Given the description of an element on the screen output the (x, y) to click on. 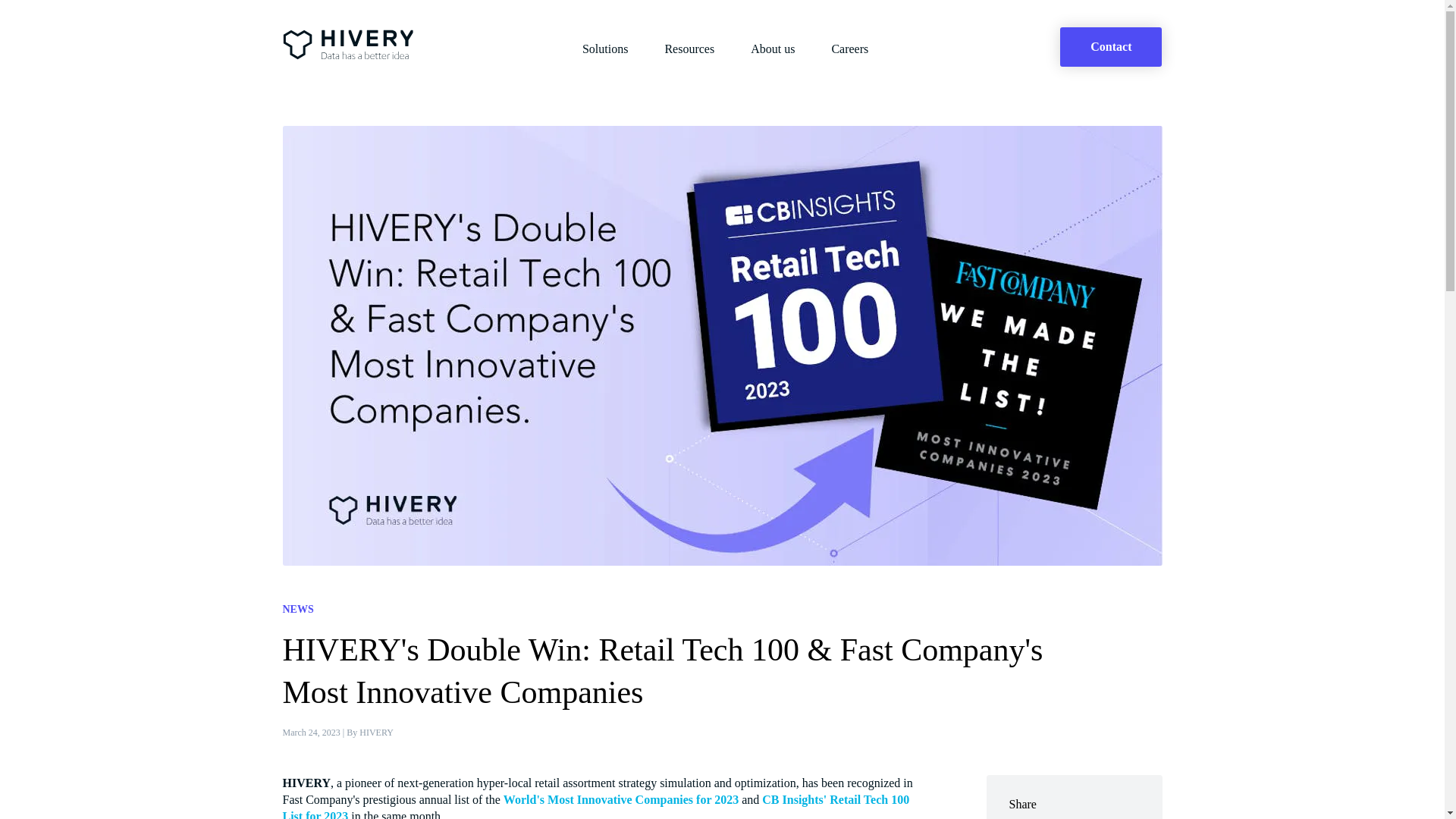
World's Most Innovative Companies for 2023 (620, 799)
Solutions (604, 48)
Contact (1110, 46)
CB Insights' Retail Tech 100 List for 2023 (595, 806)
Resources (688, 48)
Careers (849, 48)
About us (772, 48)
